Given the description of an element on the screen output the (x, y) to click on. 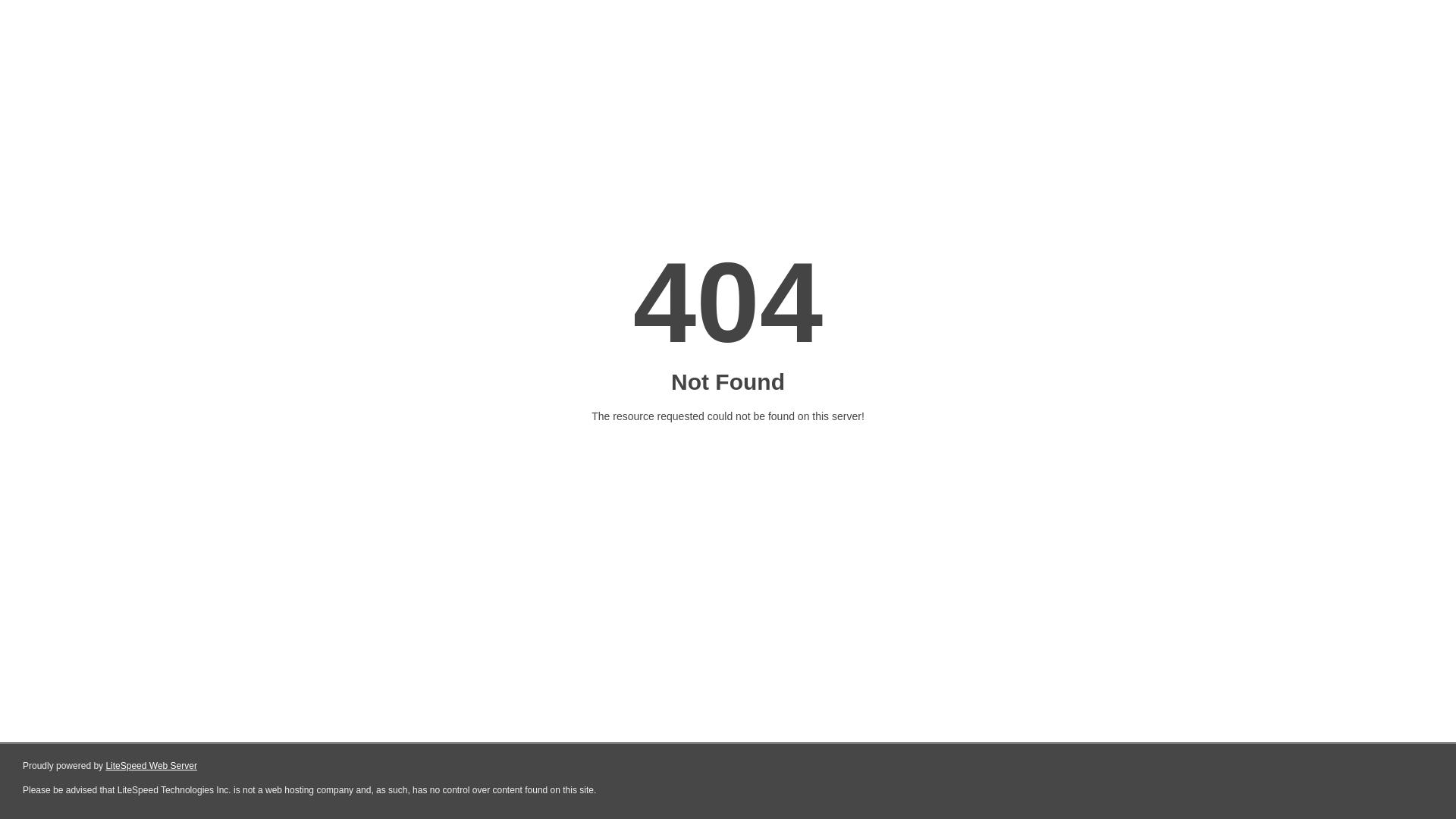
LiteSpeed Web Server Element type: text (151, 765)
